Given the description of an element on the screen output the (x, y) to click on. 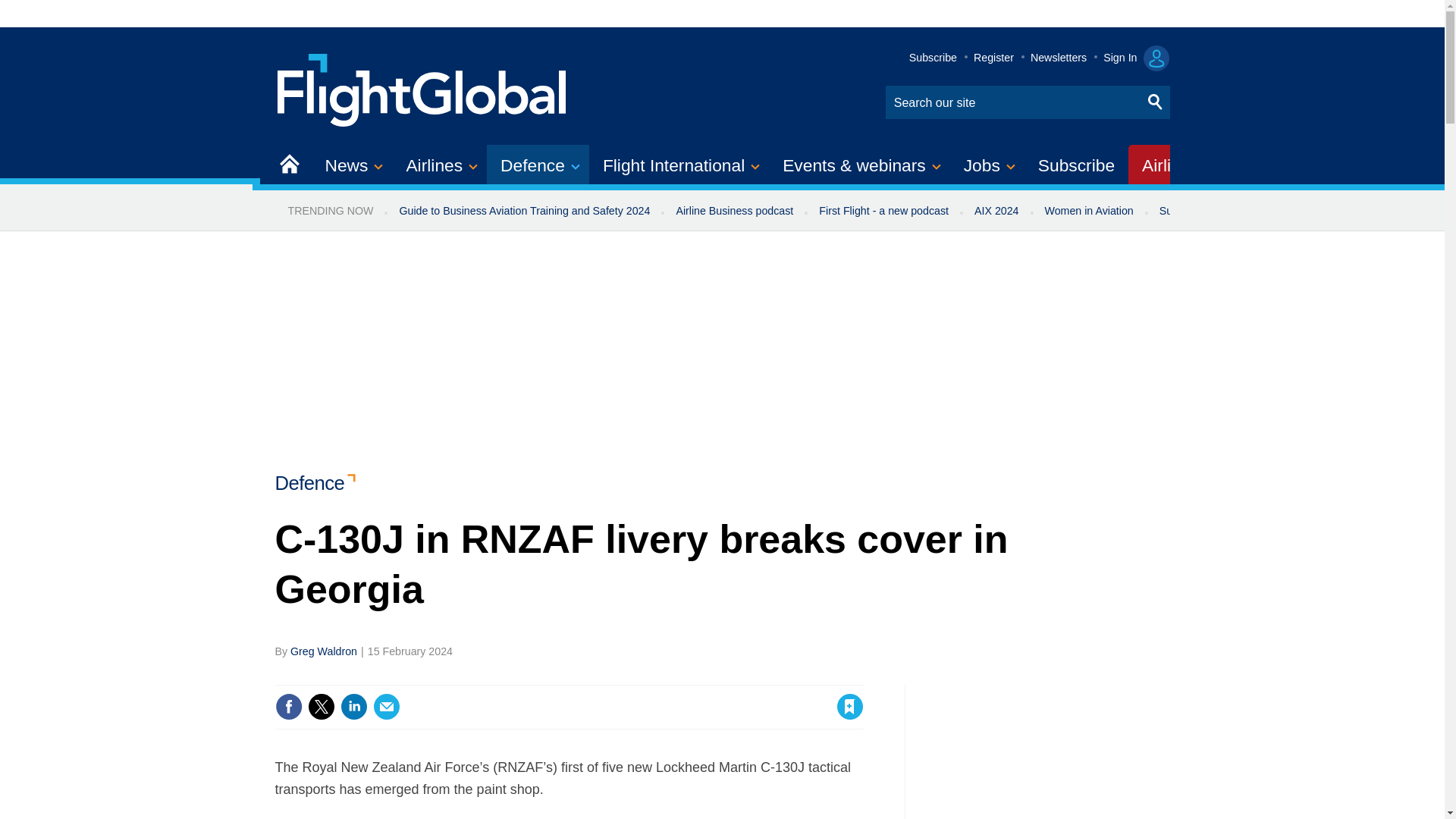
Sustainable Aviation newsletter (1234, 210)
First Flight - a new podcast (883, 210)
Share this on Facebook (288, 706)
AIX 2024 (996, 210)
Site name (422, 88)
Share this on Linked in (352, 706)
Guide to Business Aviation Training and Safety 2024 (523, 210)
